Given the description of an element on the screen output the (x, y) to click on. 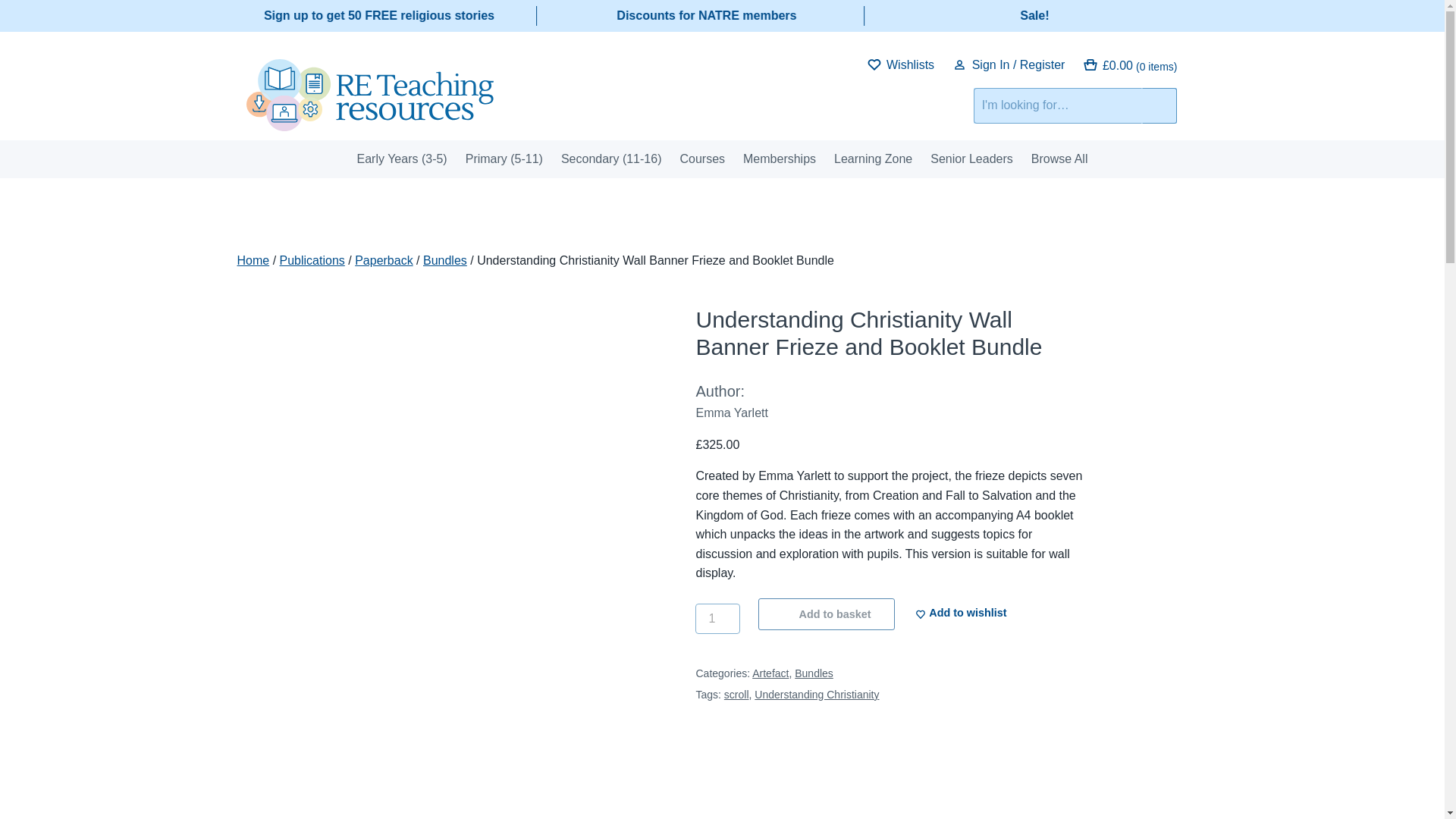
View products in the category of Judaism (563, 111)
Visit us on Twitter  (826, 63)
View products in the category of Islam (536, 111)
View products in the category of Hinduism (482, 111)
View products in the category of Buddhism (426, 111)
Visit us on Linkedin  (841, 63)
Sign up to get 50 FREE religious stories (379, 15)
Discounts for NATRE members (705, 15)
View your shopping cart (1129, 64)
View products in the category of Humanism (509, 111)
